Given the description of an element on the screen output the (x, y) to click on. 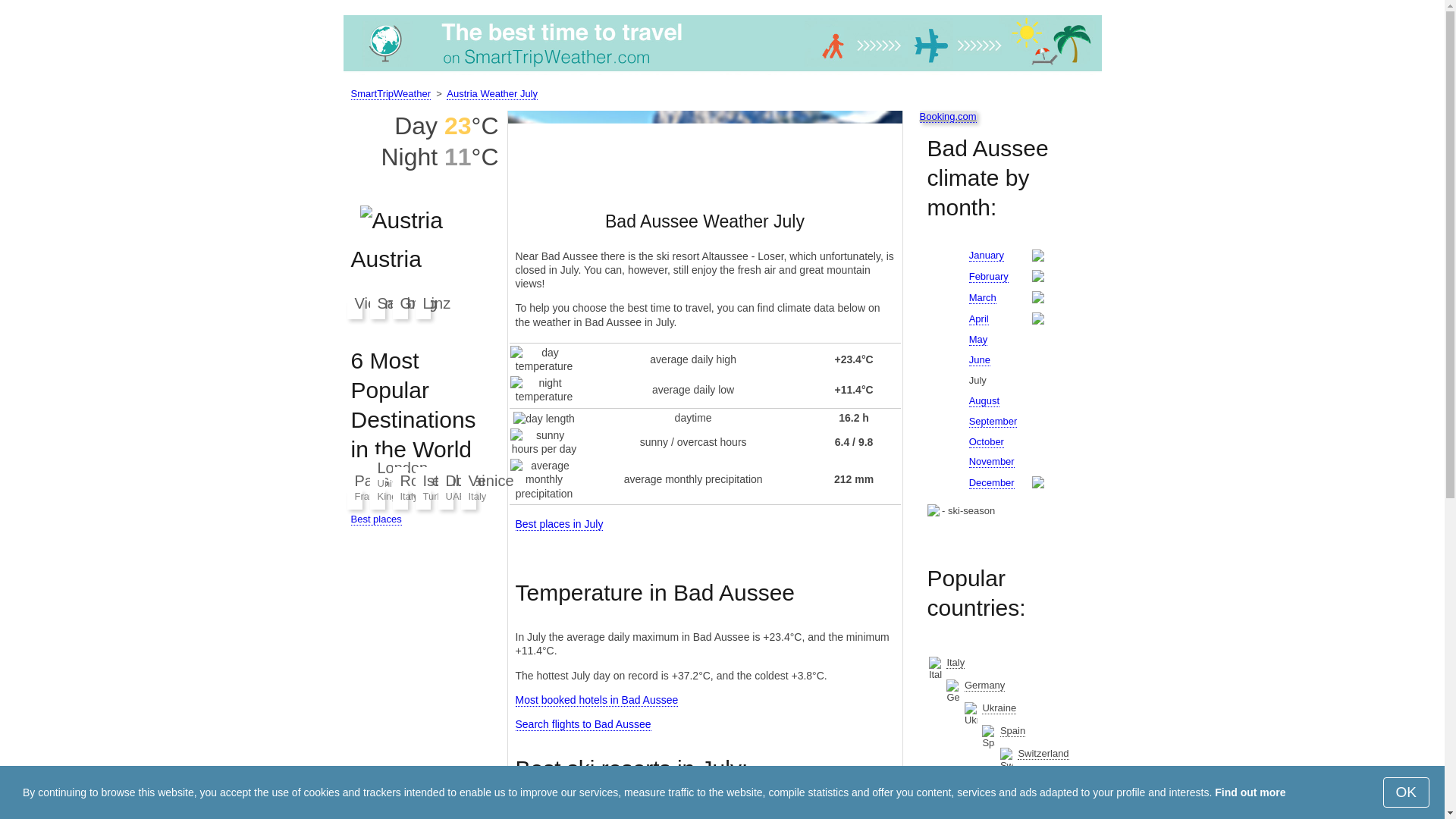
Spain (1012, 730)
Ukraine (998, 707)
sunny hours per day (543, 441)
OK (1406, 792)
average monthly precipitation (543, 479)
day temperature (543, 359)
Zermatt (539, 800)
Germany (983, 685)
SmartTripWeather (389, 93)
day length (544, 418)
SmartTripWeather (721, 45)
Vienna (378, 303)
Find out more (1249, 792)
Switzerland (1042, 753)
Bad Aussee (705, 150)
